Given the description of an element on the screen output the (x, y) to click on. 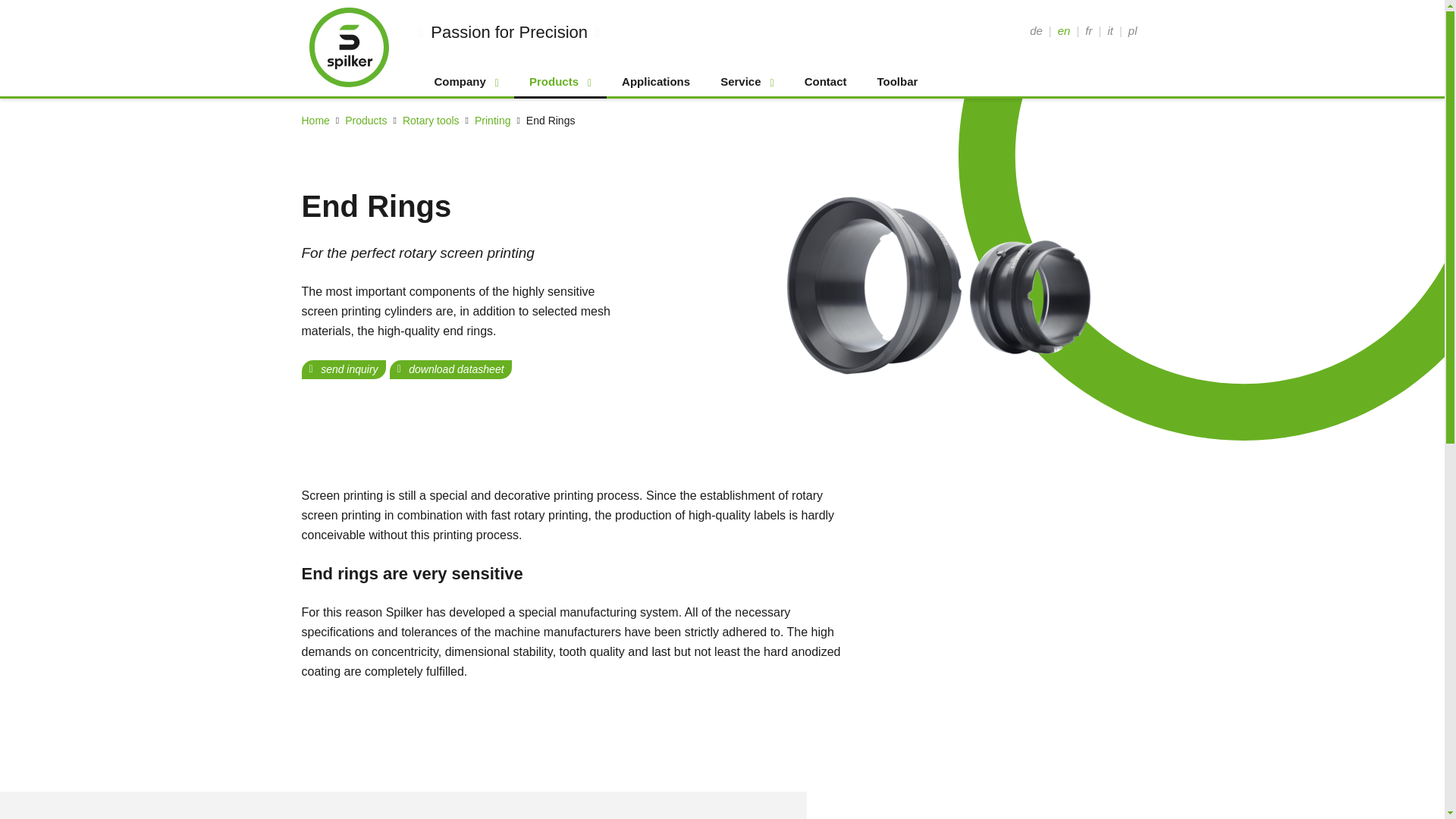
Service (746, 81)
Spilker Precision International GmbH (348, 46)
Company (466, 81)
Products (366, 120)
en (1064, 30)
Toolbar (897, 81)
Home (315, 120)
Applications (655, 81)
Contact (825, 81)
Products (560, 81)
